Given the description of an element on the screen output the (x, y) to click on. 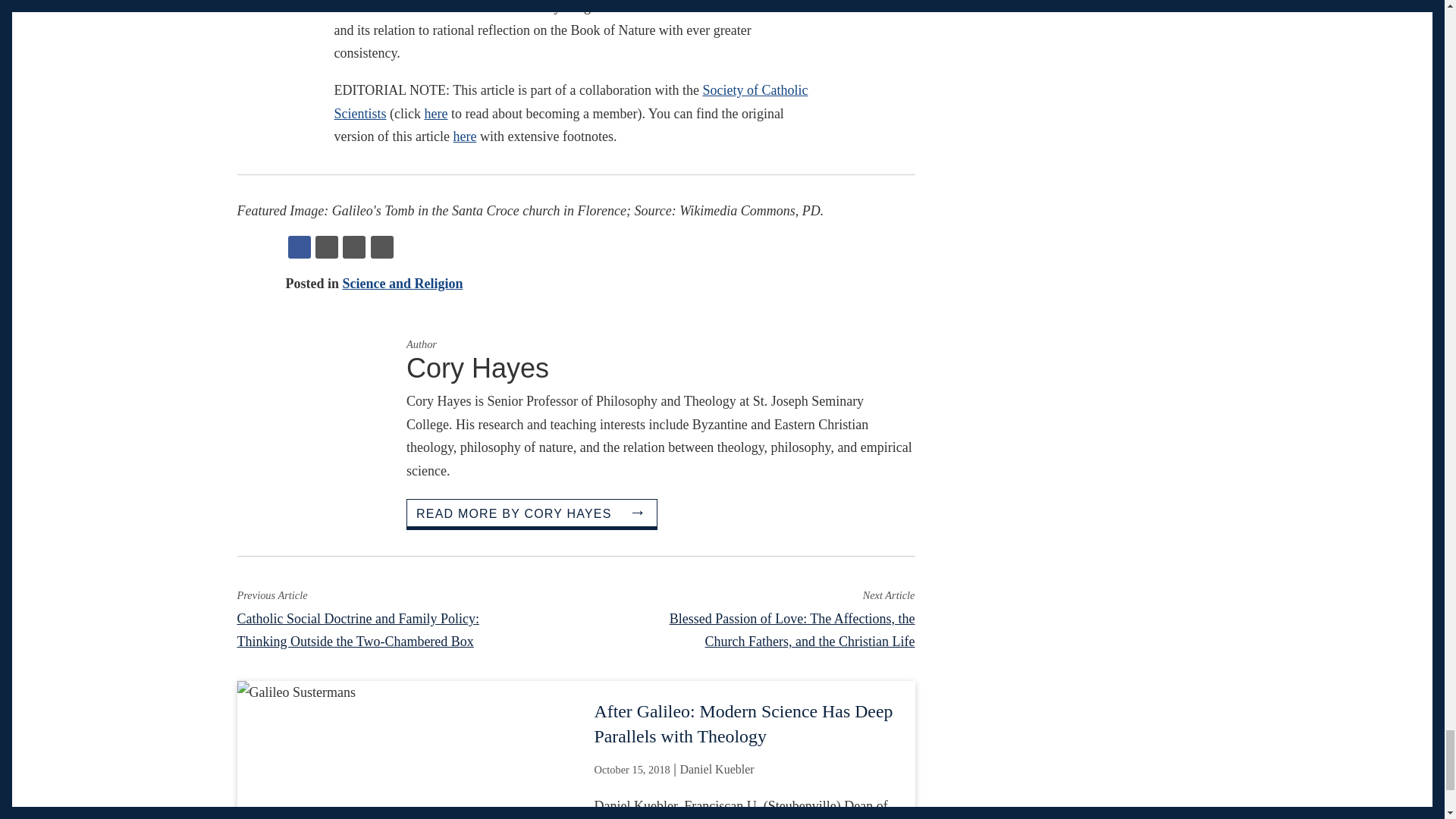
here (464, 136)
Email (353, 246)
Science and Religion (402, 283)
Facebook (299, 246)
Print (382, 246)
here (436, 113)
READ MORE BY CORY HAYES (532, 512)
Society of Catholic Scientists (570, 101)
